Given the description of an element on the screen output the (x, y) to click on. 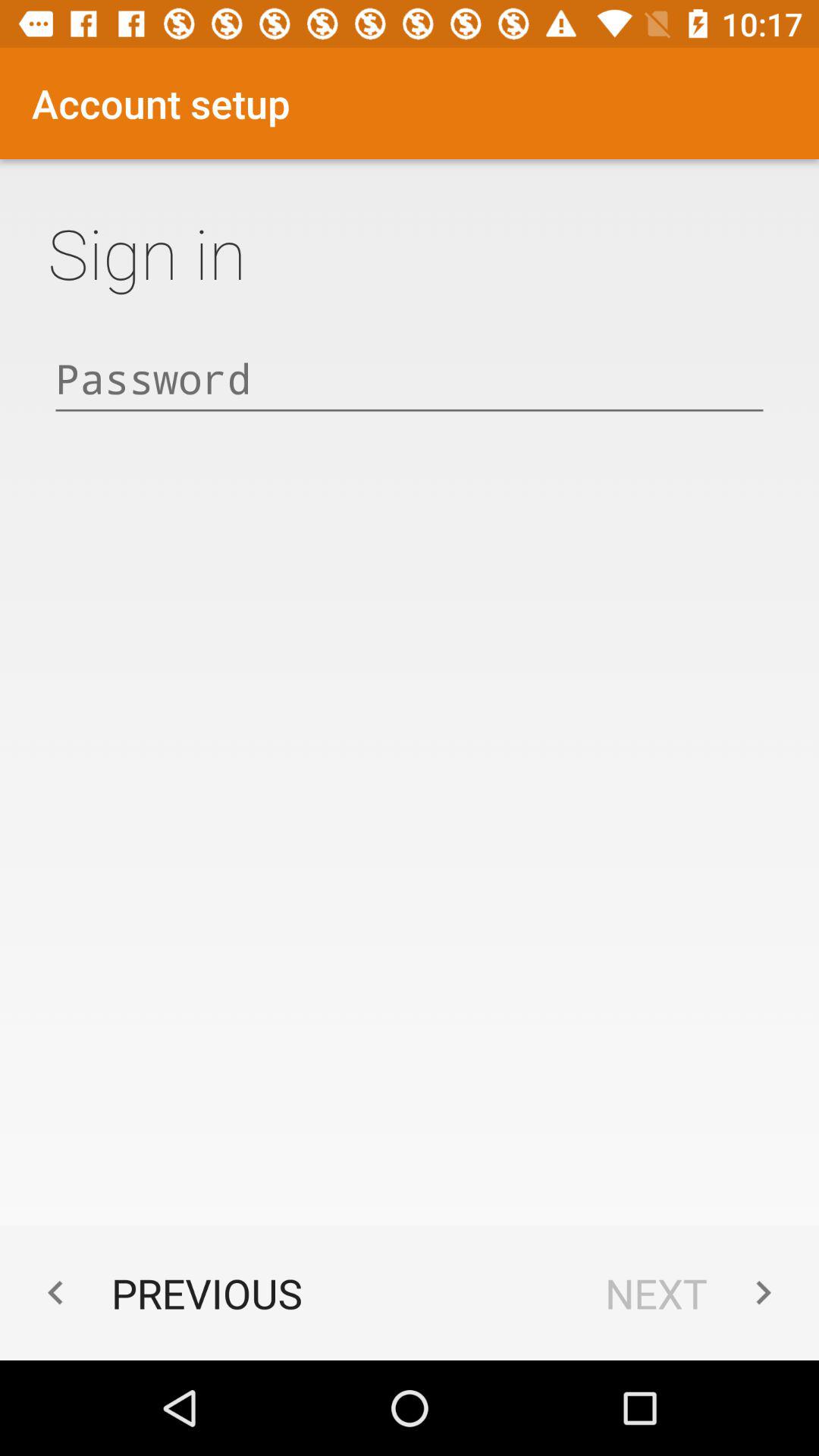
choose the previous icon (166, 1292)
